Given the description of an element on the screen output the (x, y) to click on. 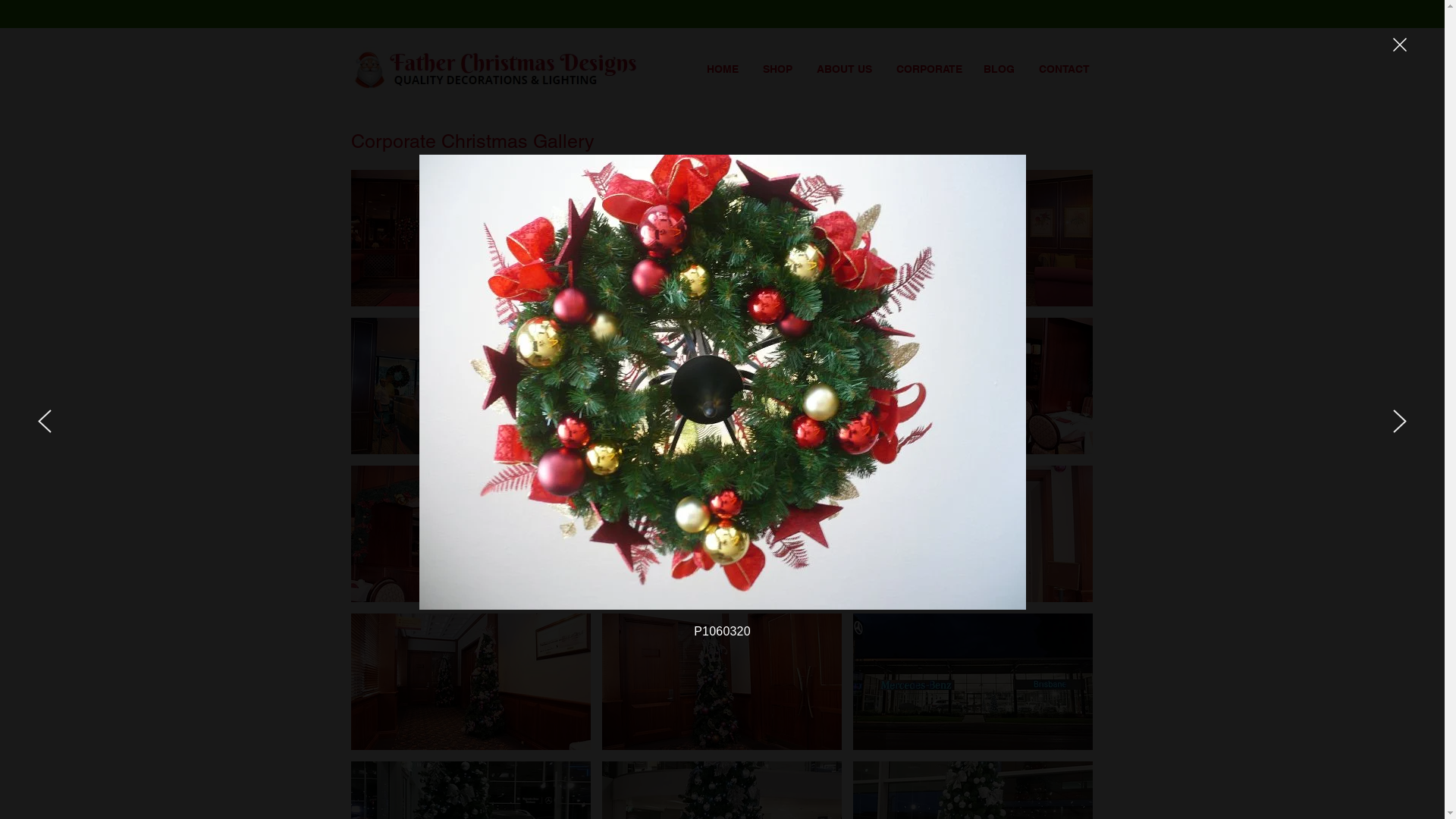
CORPORATE Element type: text (929, 68)
SHOP Element type: text (777, 68)
ABOUT US Element type: text (843, 68)
HOME Element type: text (723, 68)
CONTACT Element type: text (1063, 68)
logo.jpg Element type: hover (495, 69)
BLOG Element type: text (997, 68)
